Given the description of an element on the screen output the (x, y) to click on. 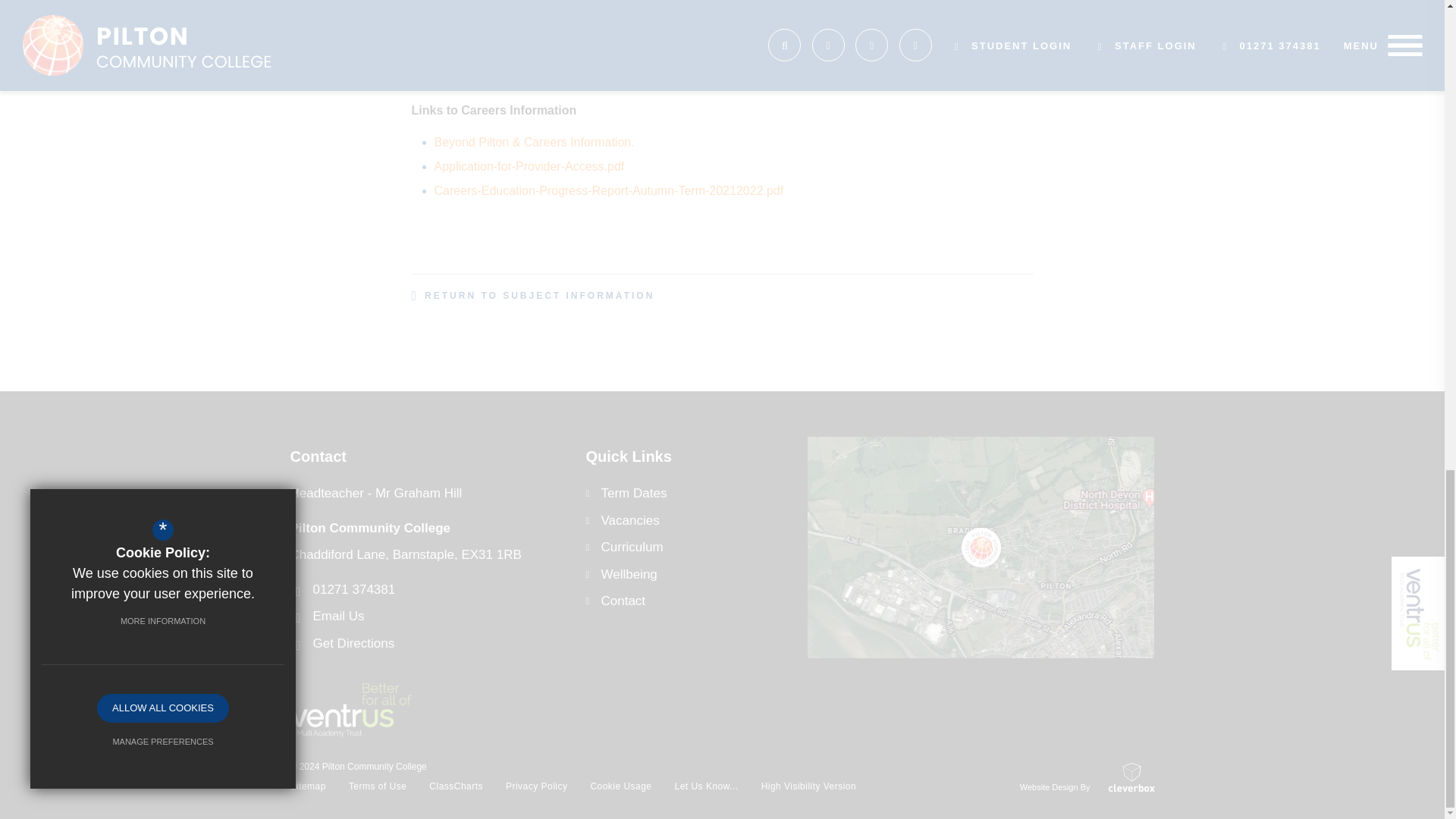
Get Directions (437, 643)
Call us on 01271 374381 (437, 588)
Return to Subject Information (531, 295)
